Given the description of an element on the screen output the (x, y) to click on. 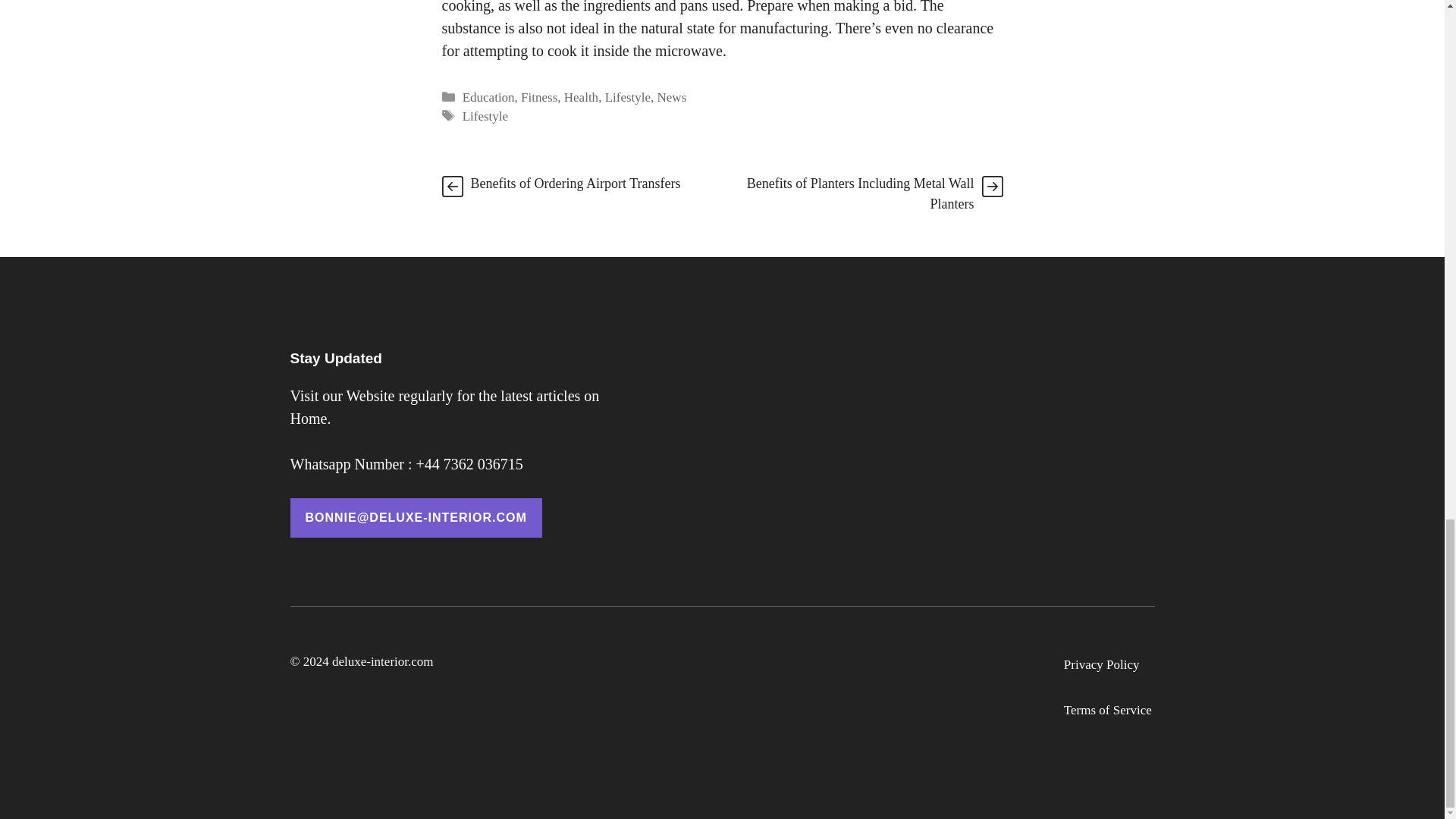
Lifestyle (627, 97)
News (672, 97)
Lifestyle (485, 115)
Fitness (539, 97)
Benefits of Ordering Airport Transfers (574, 183)
Health (581, 97)
Benefits of Planters Including Metal Wall Planters (860, 193)
Privacy Policy (1102, 664)
Terms of Service (1107, 710)
Education (489, 97)
